Given the description of an element on the screen output the (x, y) to click on. 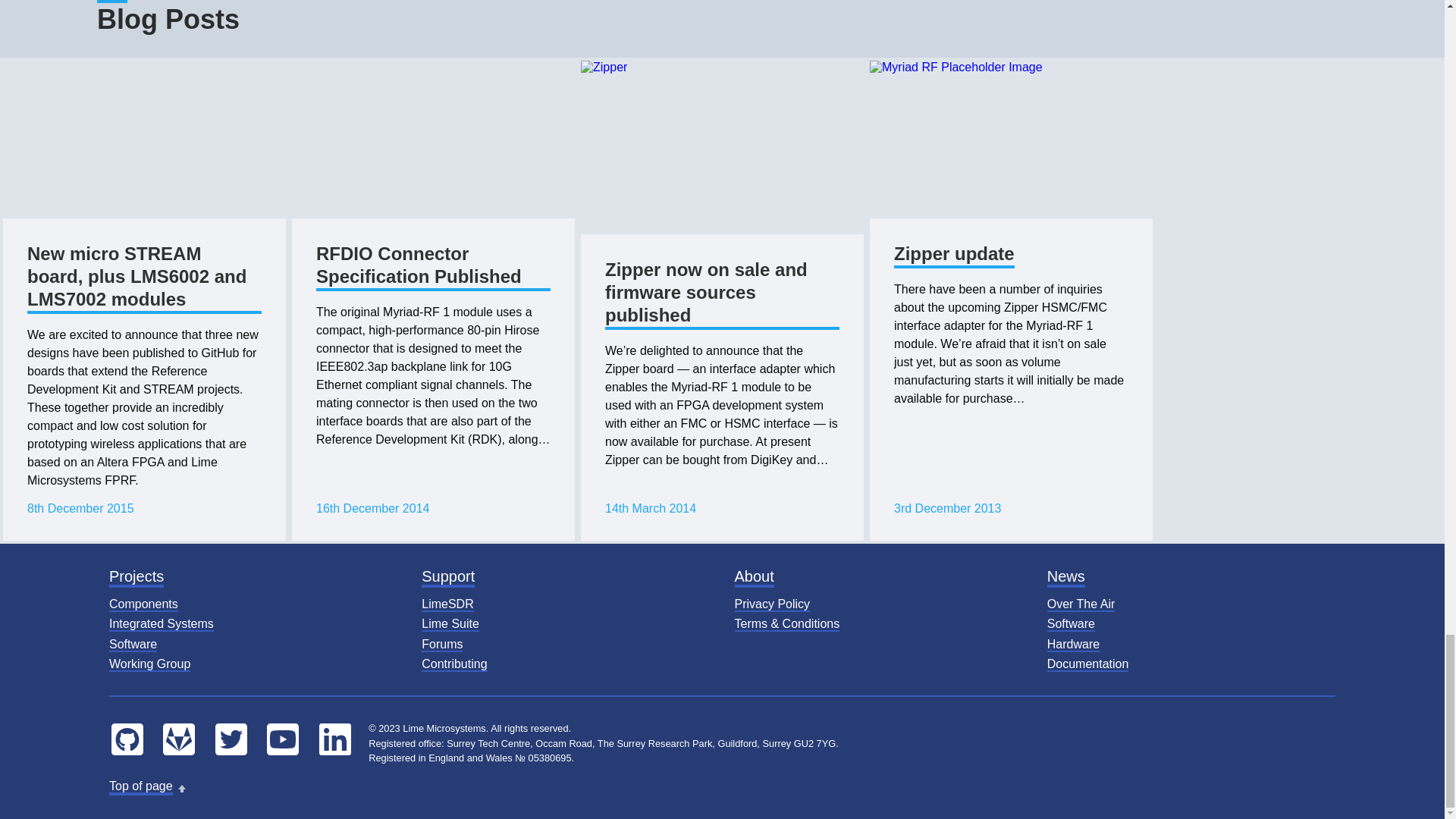
Components (143, 604)
Zipper now on sale and firmware sources published (722, 294)
RFDIO Connector Specification Published (432, 266)
Zipper update (953, 255)
New micro STREAM board, plus LMS6002 and LMS7002 modules (144, 277)
Projects (136, 578)
